Given the description of an element on the screen output the (x, y) to click on. 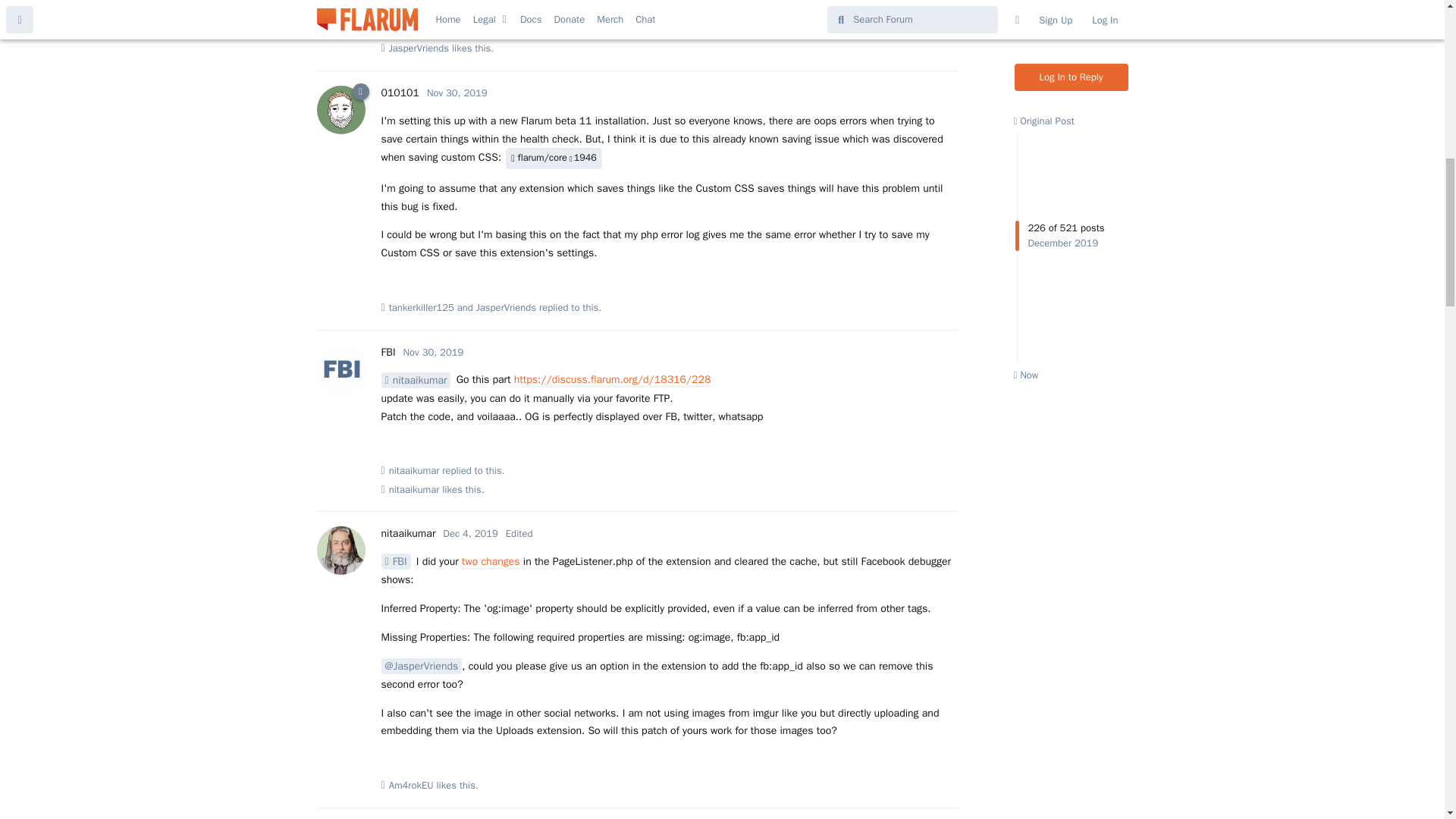
Saturday, November 30, 2019 11:42 PM (433, 351)
Saturday, November 30, 2019 4:16 PM (456, 92)
Wednesday, December 4, 2019 12:16 PM (469, 533)
